Given the description of an element on the screen output the (x, y) to click on. 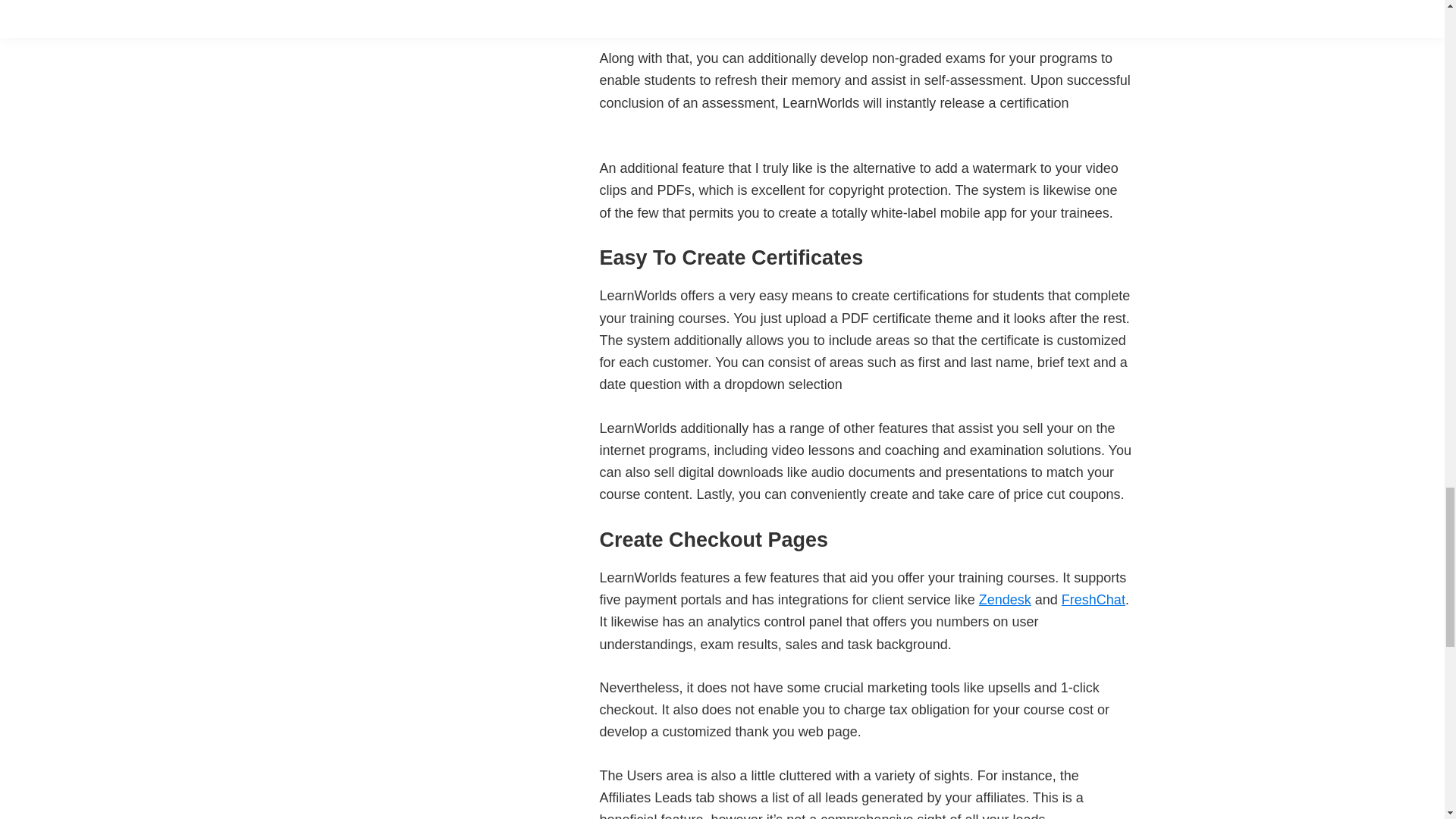
Zendesk (1004, 599)
FreshChat (1093, 599)
